Given the description of an element on the screen output the (x, y) to click on. 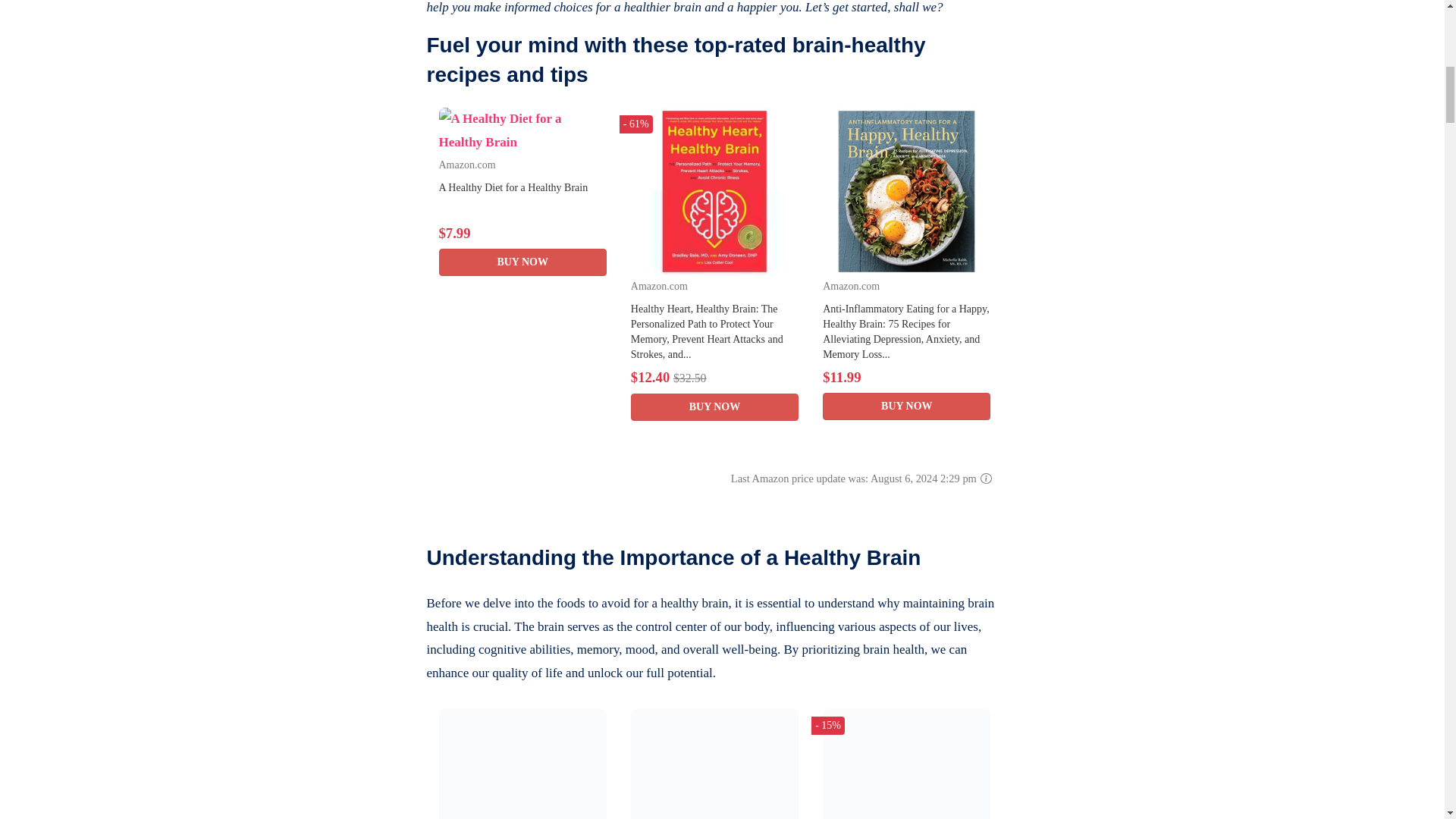
Share on Whatsapp (388, 28)
BUY NOW (521, 262)
BUY NOW (906, 406)
Share on Telegram (388, 4)
BUY NOW (713, 406)
